Given the description of an element on the screen output the (x, y) to click on. 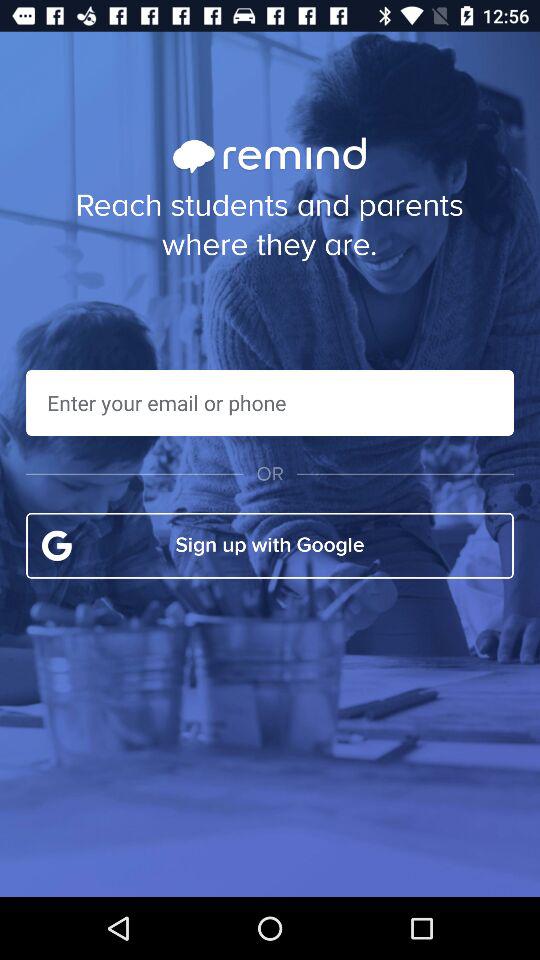
login with email or phone (269, 402)
